Given the description of an element on the screen output the (x, y) to click on. 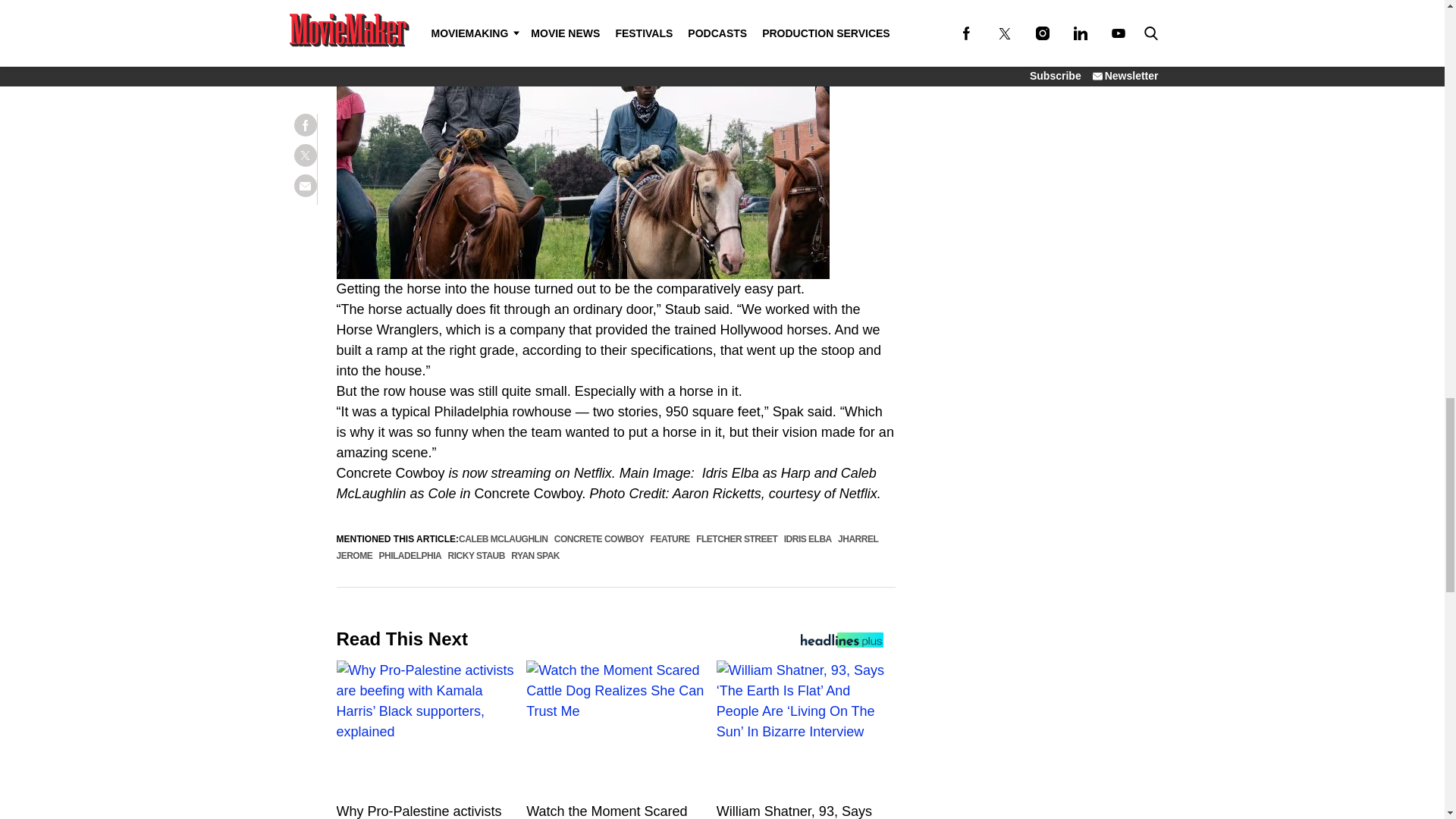
CONCRETE COWBOY (599, 538)
CALEB MCLAUGHLIN (502, 538)
FEATURE (670, 538)
